Given the description of an element on the screen output the (x, y) to click on. 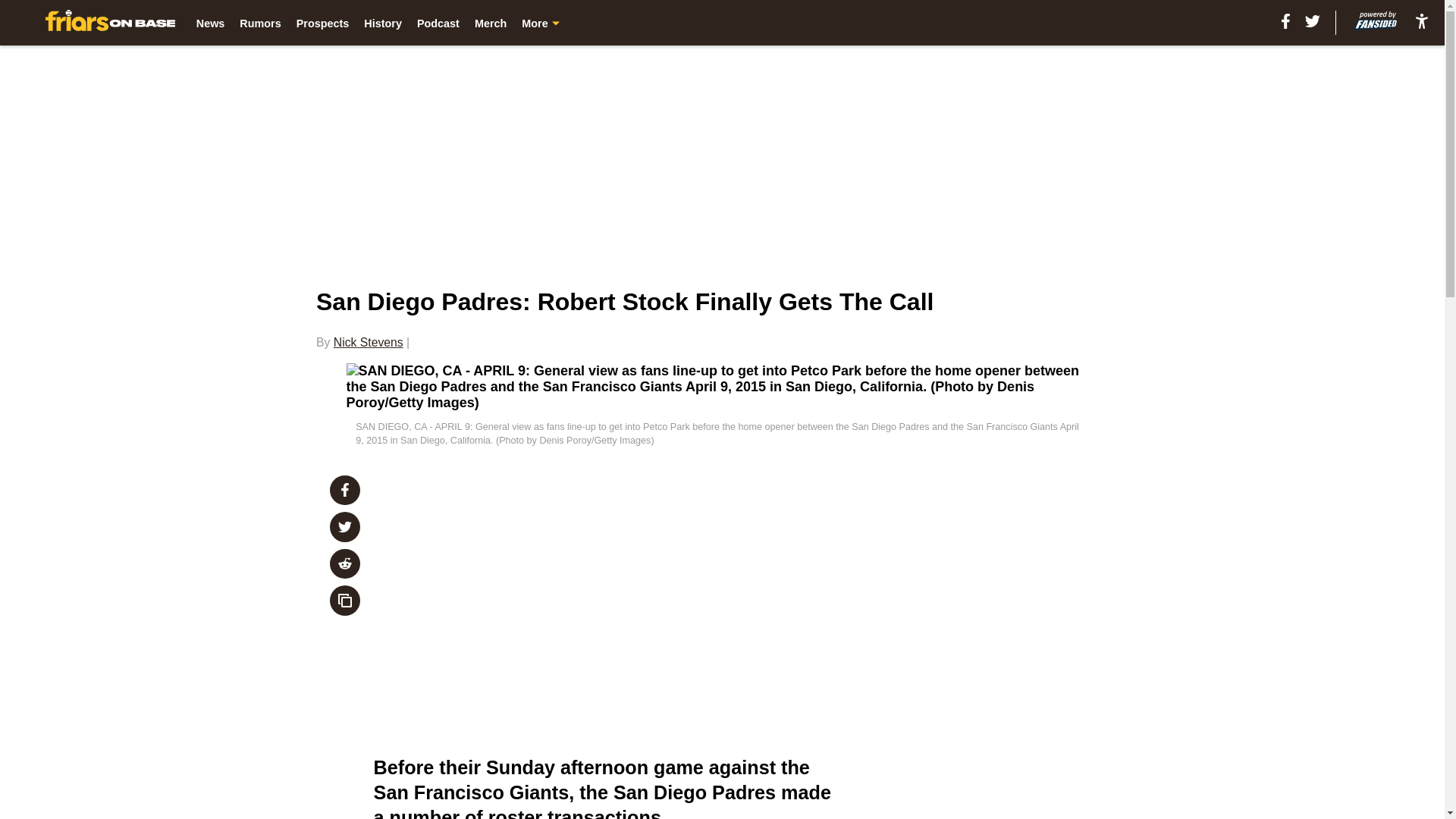
Rumors (260, 23)
Prospects (323, 23)
Merch (490, 23)
Nick Stevens (368, 341)
News (210, 23)
Podcast (438, 23)
History (382, 23)
